Given the description of an element on the screen output the (x, y) to click on. 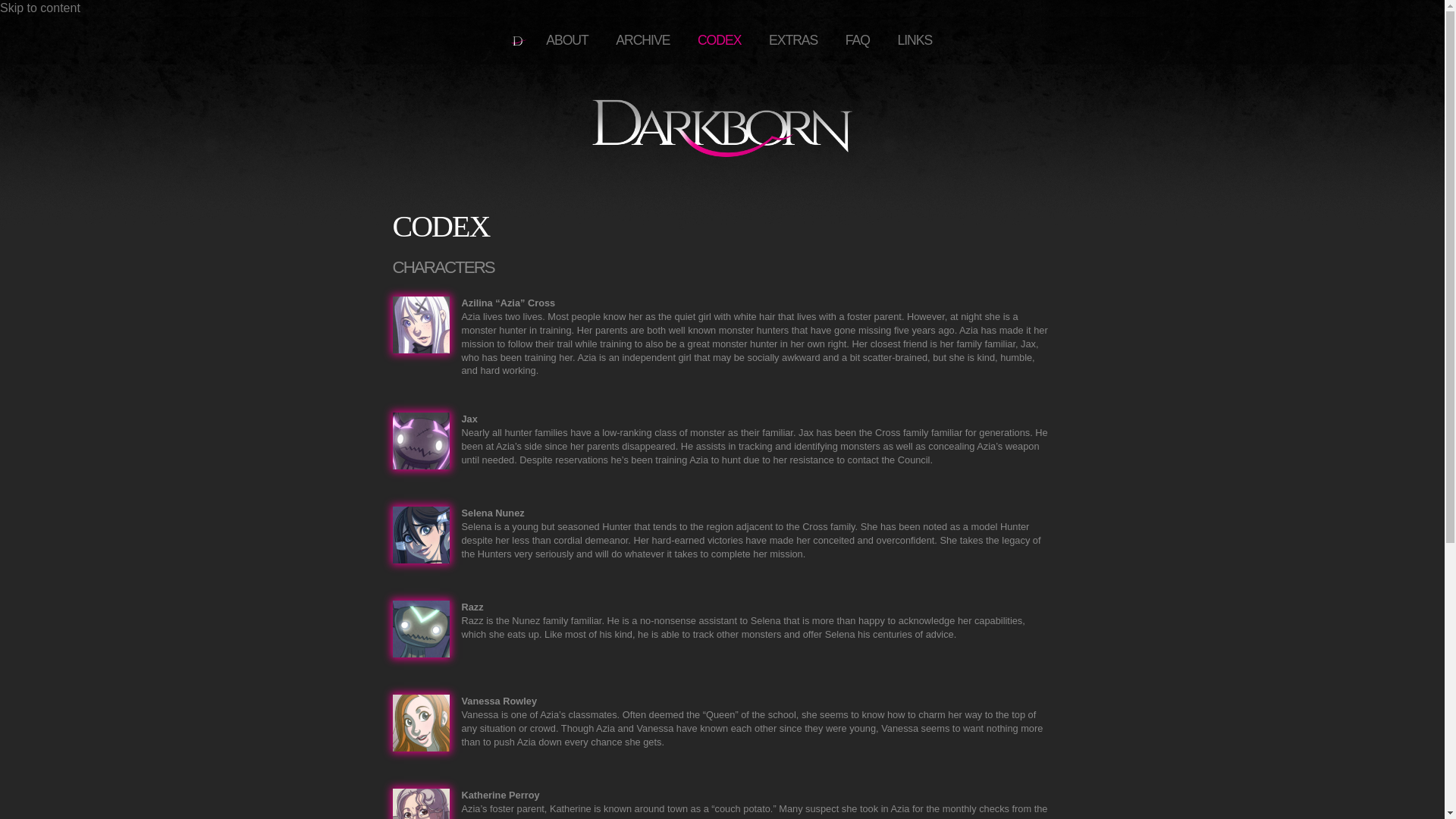
CODEX (719, 40)
Skip to content (40, 7)
FAQ (857, 40)
EXTRAS (793, 40)
LINKS (914, 40)
ABOUT (566, 40)
ARCHIVE (642, 40)
